Given the description of an element on the screen output the (x, y) to click on. 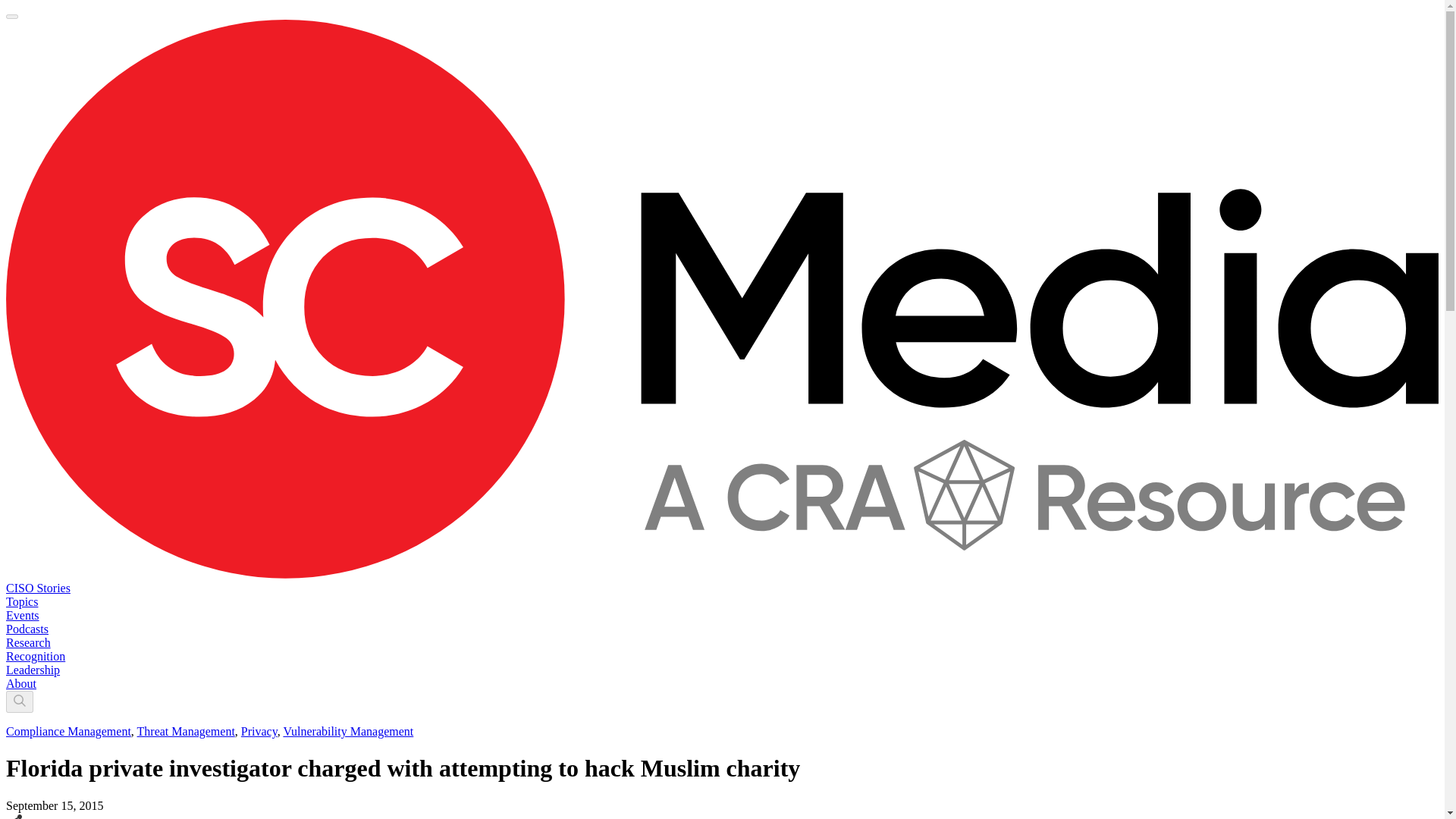
Leadership (32, 669)
Podcasts (26, 628)
Topics (21, 601)
Events (22, 615)
About (20, 683)
Privacy (259, 730)
Recognition (35, 656)
Compliance Management (68, 730)
Research (27, 642)
Vulnerability Management (347, 730)
Threat Management (185, 730)
CISO Stories (37, 587)
